Given the description of an element on the screen output the (x, y) to click on. 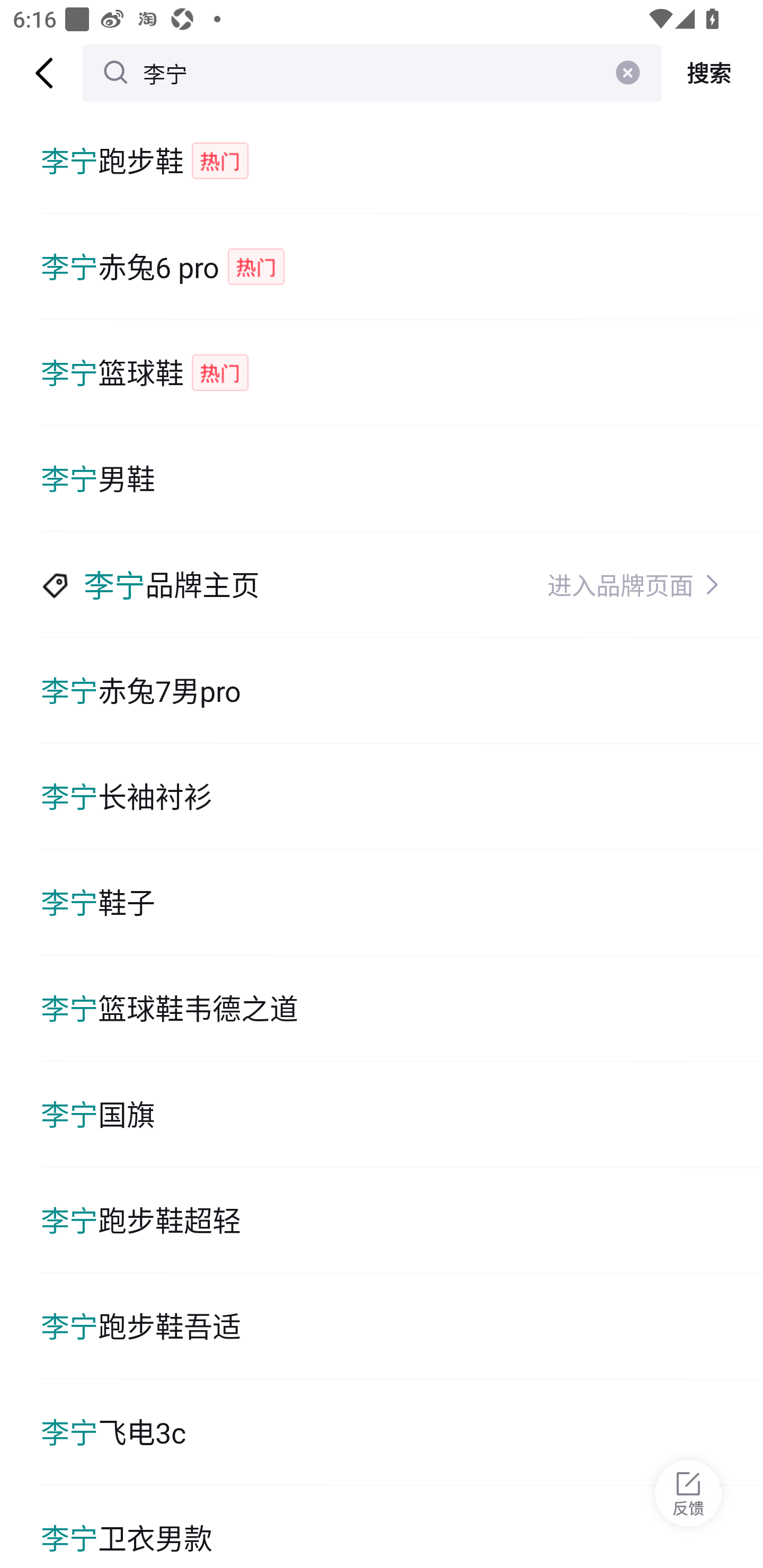
搜索 (712, 72)
李宁 (371, 72)
李宁跑步鞋 (401, 160)
李宁赤兔6 pro (401, 266)
李宁篮球鞋 (401, 372)
李宁男鞋 (401, 478)
李宁 品牌主页 进入品牌页面  (401, 584)
李宁赤兔7男pro (401, 690)
李宁长袖衬衫 (401, 796)
李宁鞋子 (401, 901)
李宁篮球鞋韦德之道 (401, 1007)
李宁国旗 (401, 1114)
李宁跑步鞋超轻 (401, 1220)
李宁跑步鞋吾适 (401, 1326)
李宁飞电3c (401, 1431)
李宁卫衣男款 (401, 1526)
